Given the description of an element on the screen output the (x, y) to click on. 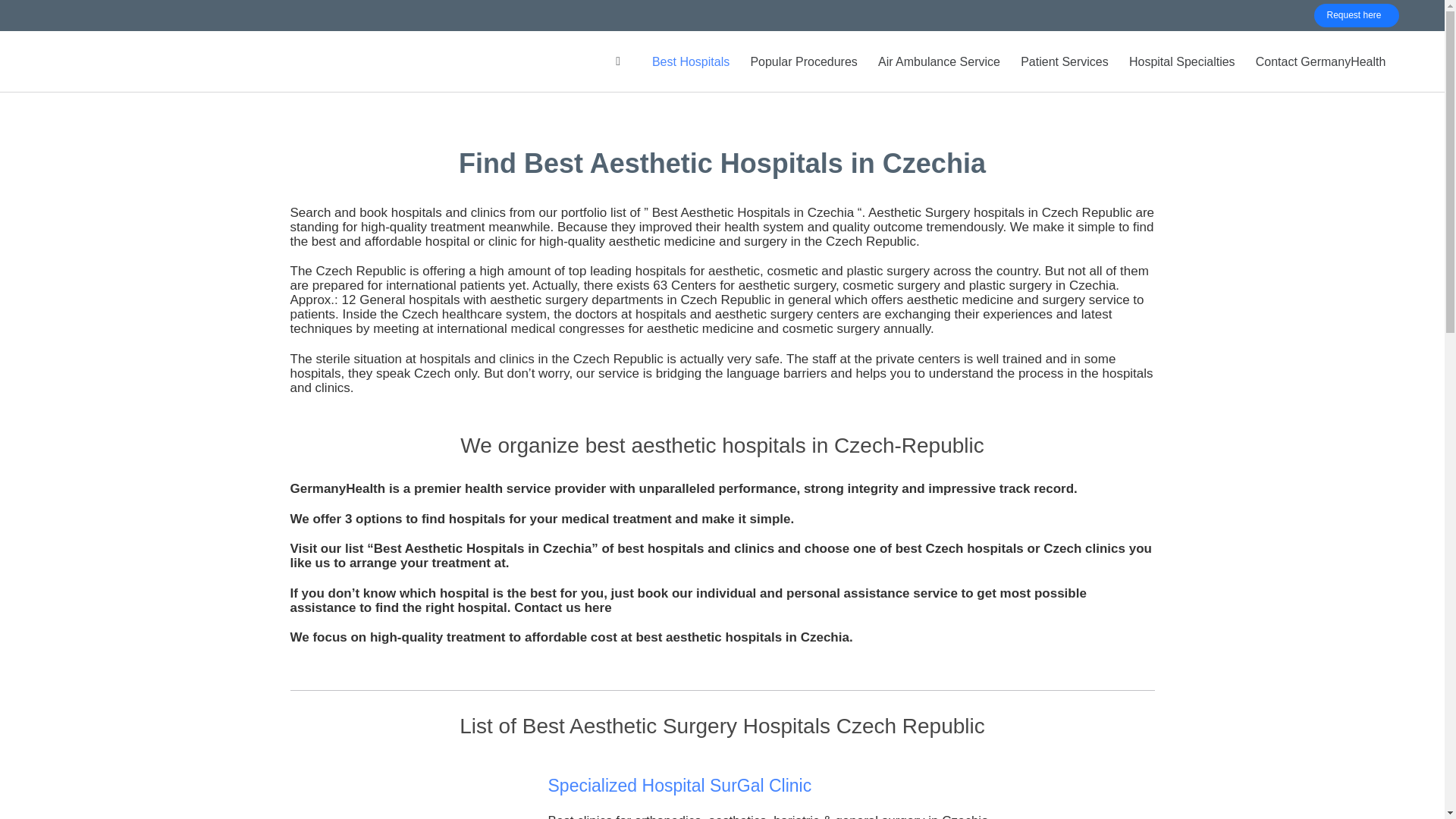
Request here   (1356, 15)
Patient Services (1064, 62)
Air Ambulance Service (938, 62)
Specialized Hospital SurGal Clinic (678, 785)
Contact GermanyHealth (1320, 62)
Best Specialized Hospitals (690, 62)
Hospital Specialties (1181, 62)
Best Hospitals (690, 62)
GermanyHealth (111, 61)
Popular Procedures (803, 62)
